Given the description of an element on the screen output the (x, y) to click on. 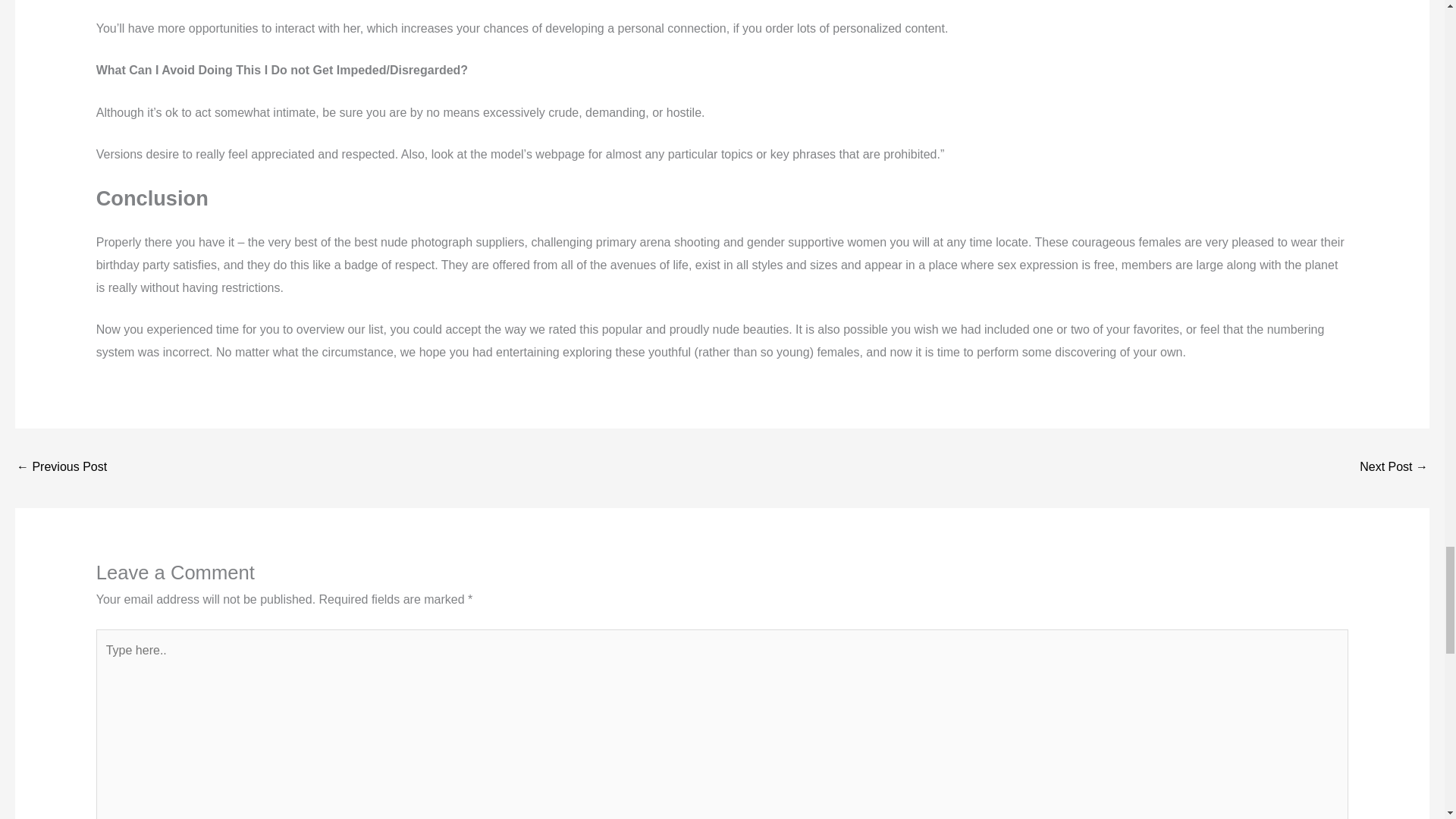
Onlyfan Search Engine  - Try Online OnlyFans Sites! (61, 468)
